Given the description of an element on the screen output the (x, y) to click on. 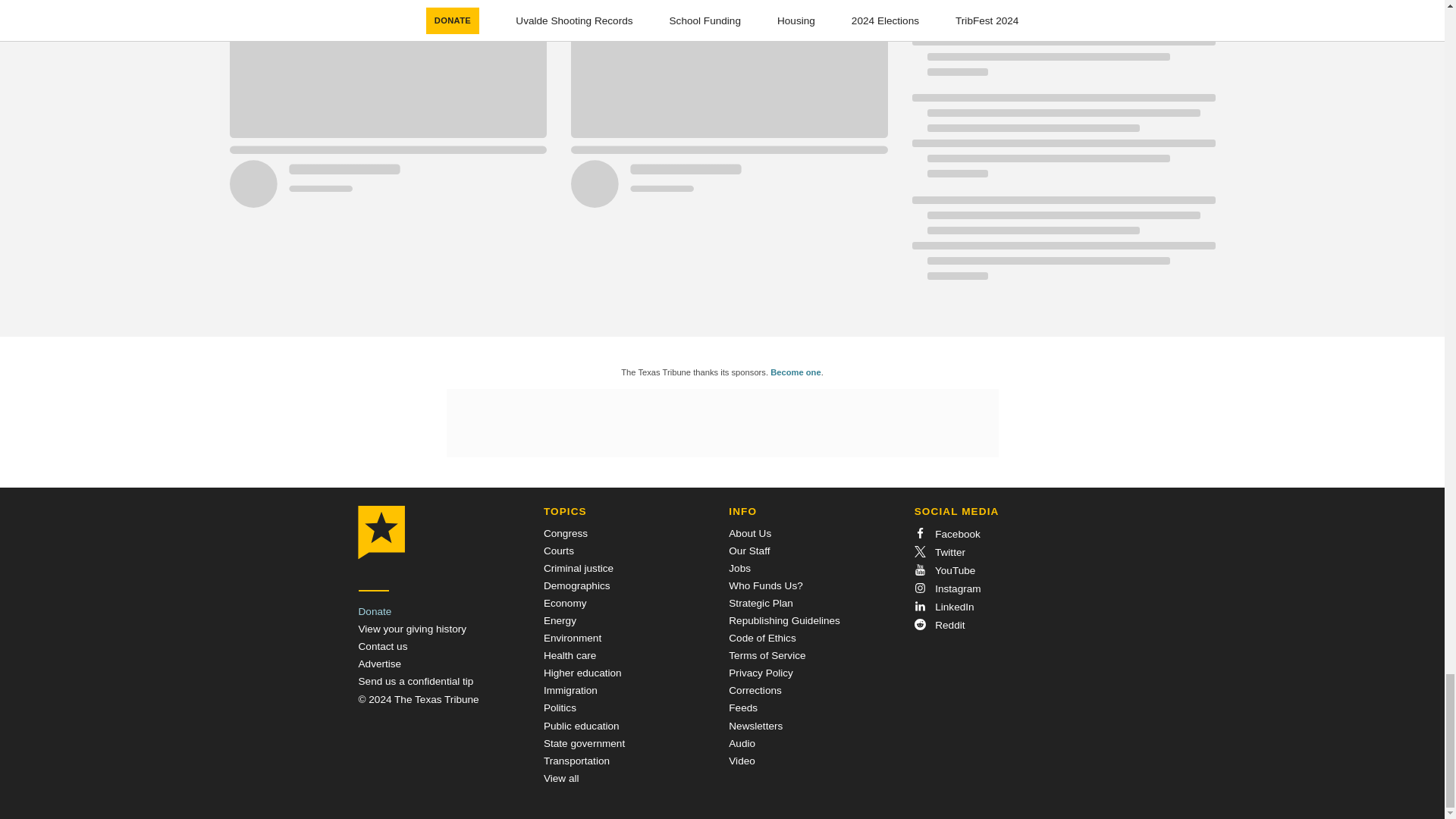
Advertise (379, 663)
Feeds (743, 707)
About Us (750, 532)
Strategic Plan (761, 603)
Who Funds Us? (765, 585)
Donate (374, 611)
Contact us (382, 645)
View your giving history (411, 628)
Terms of Service (767, 655)
Audio (742, 743)
